Given the description of an element on the screen output the (x, y) to click on. 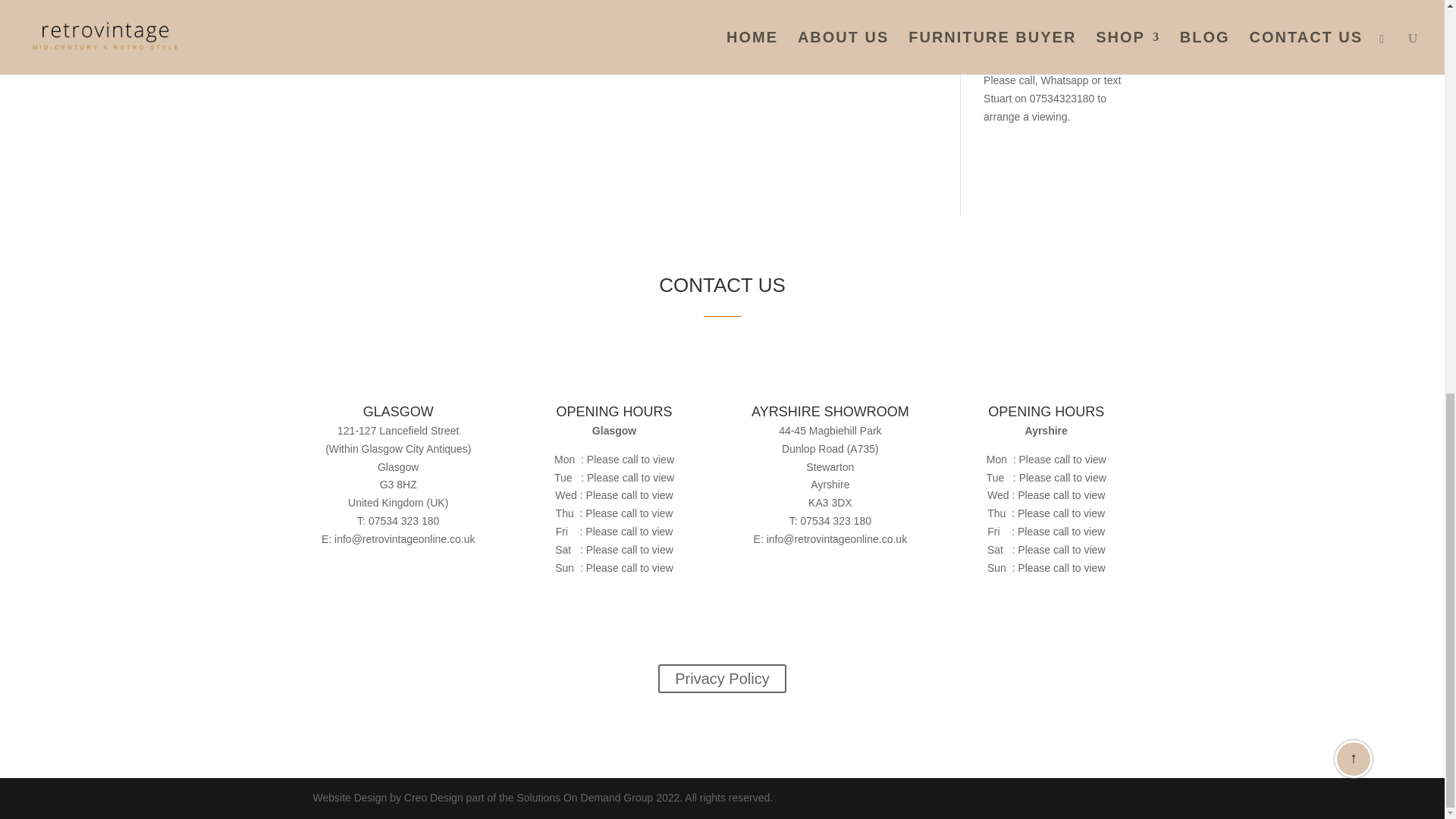
07534 323 180 (835, 521)
Privacy Policy (722, 678)
07534 323 180 (403, 521)
